Given the description of an element on the screen output the (x, y) to click on. 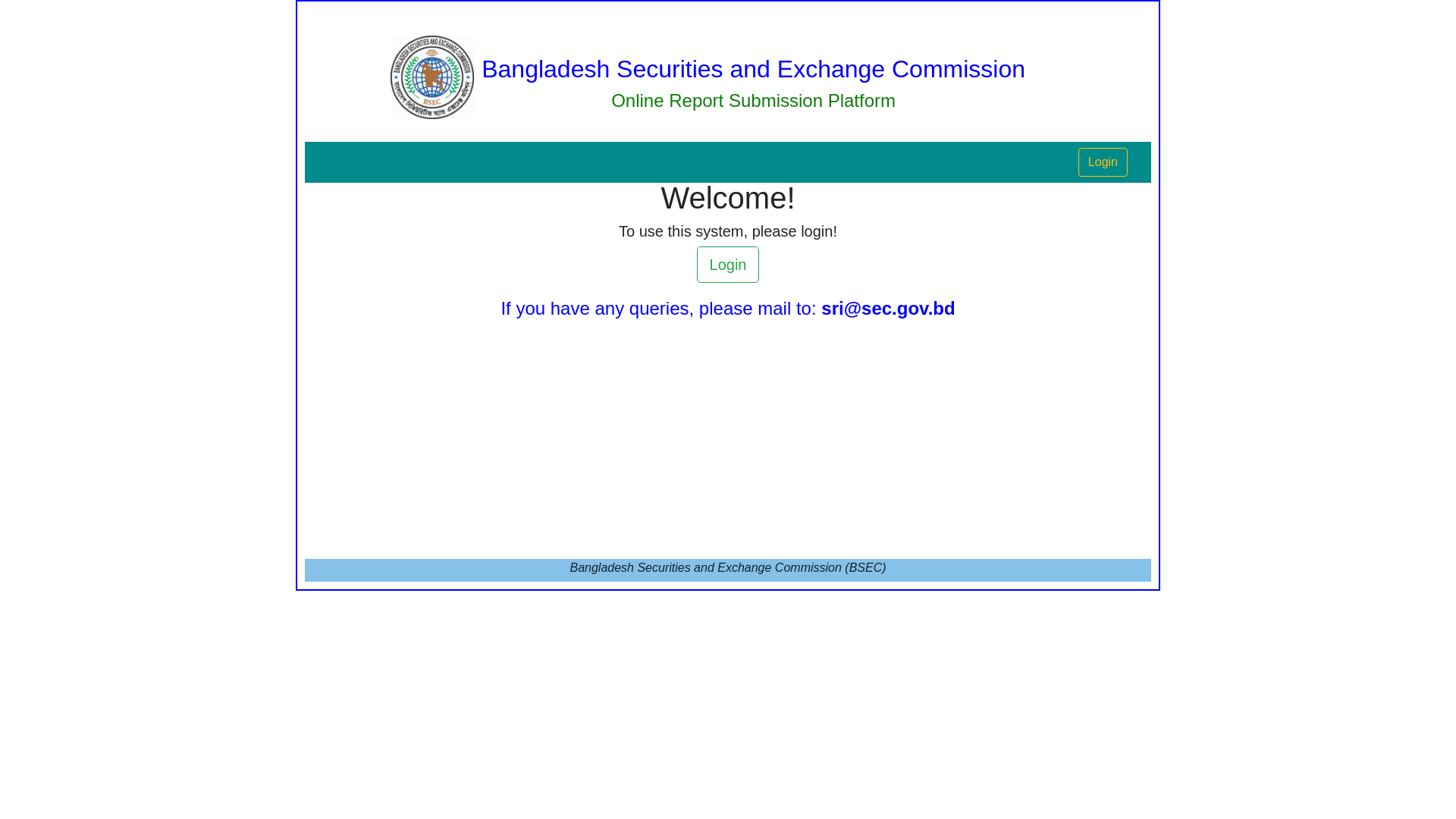
Login Element type: text (1102, 161)
Login Element type: text (727, 264)
